Given the description of an element on the screen output the (x, y) to click on. 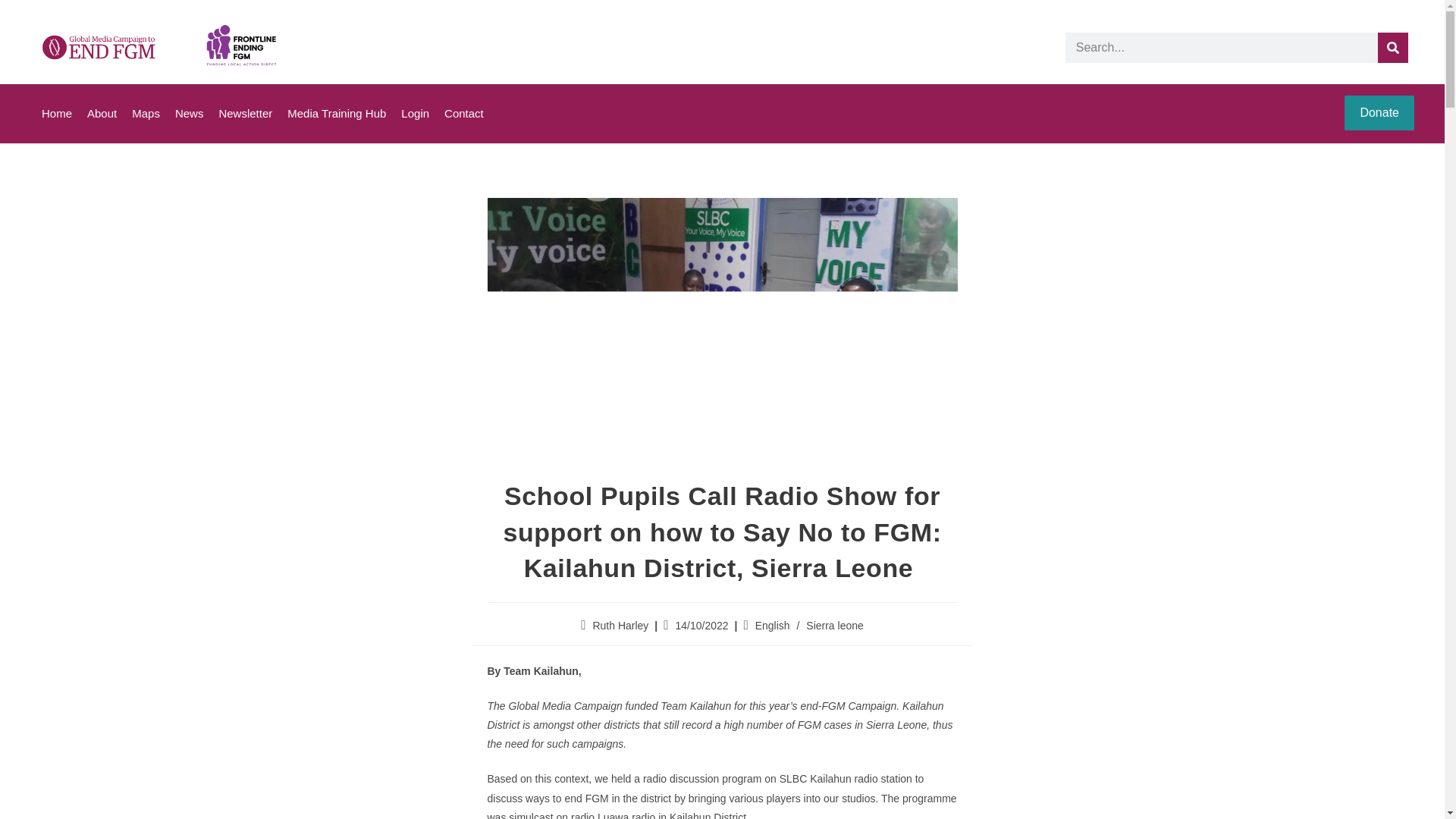
Contact (463, 113)
Posts by Ruth Harley (619, 625)
Media Training Hub (336, 113)
Home (56, 113)
Newsletter (244, 113)
